Given the description of an element on the screen output the (x, y) to click on. 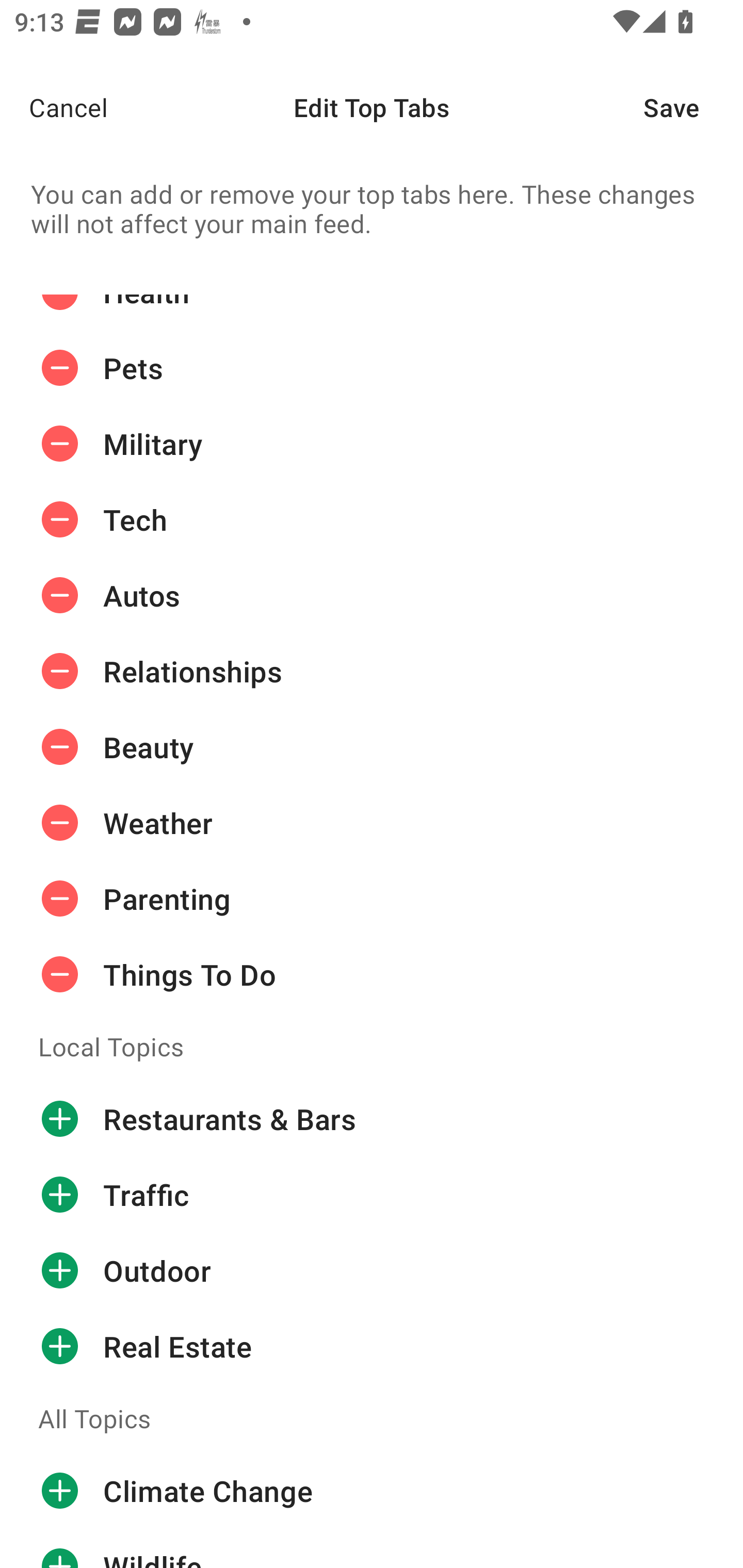
Cancel (53, 106)
Save (693, 106)
Pets (371, 368)
Military (371, 443)
Tech (371, 519)
Autos (371, 595)
Relationships (371, 670)
Beauty (371, 746)
Weather (371, 822)
Parenting (371, 898)
Things To Do (371, 974)
Restaurants & Bars (371, 1118)
Traffic (371, 1194)
Outdoor (371, 1270)
Real Estate (371, 1346)
Climate Change (371, 1490)
